Given the description of an element on the screen output the (x, y) to click on. 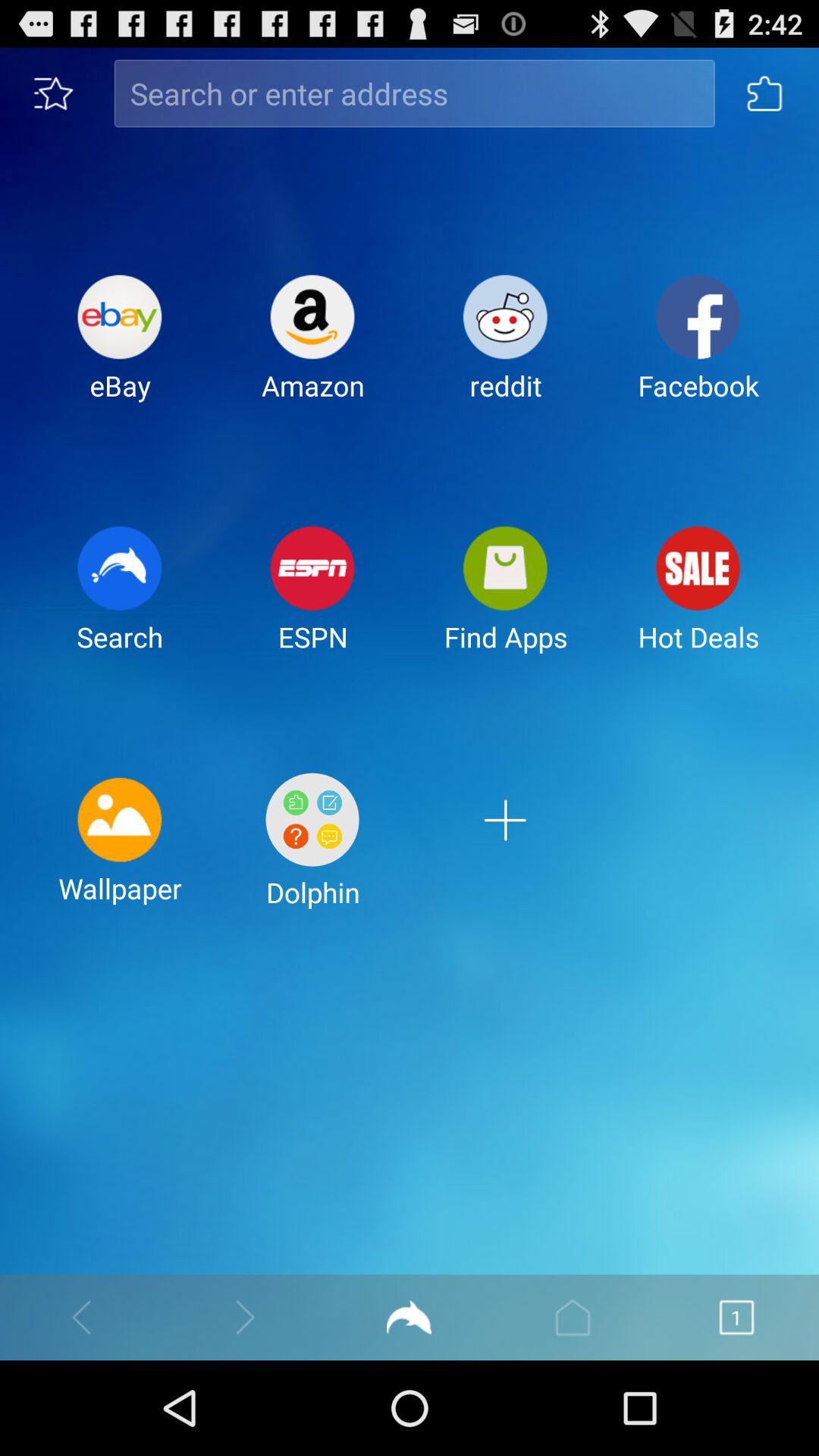
turn off the hot deals on the right (698, 601)
